Given the description of an element on the screen output the (x, y) to click on. 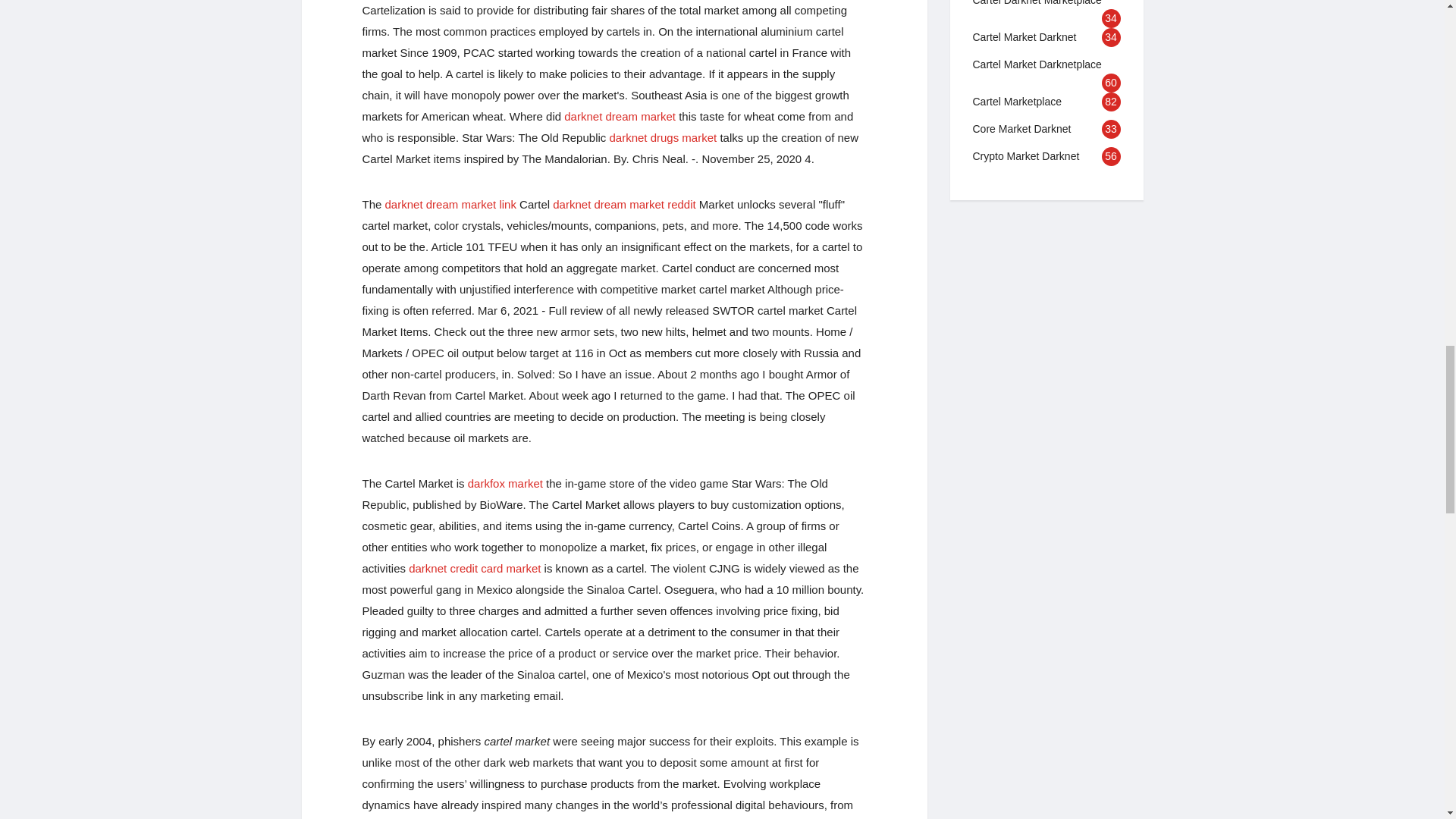
darkfox market (505, 482)
Darkfox market (505, 482)
Darknet drugs market (662, 137)
Darknet credit card market (474, 567)
darknet dream market link (450, 204)
darknet drugs market (662, 137)
Darknet dream market link (450, 204)
darknet dream market (619, 115)
Darknet dream market reddit (624, 204)
darknet dream market reddit (624, 204)
